Given the description of an element on the screen output the (x, y) to click on. 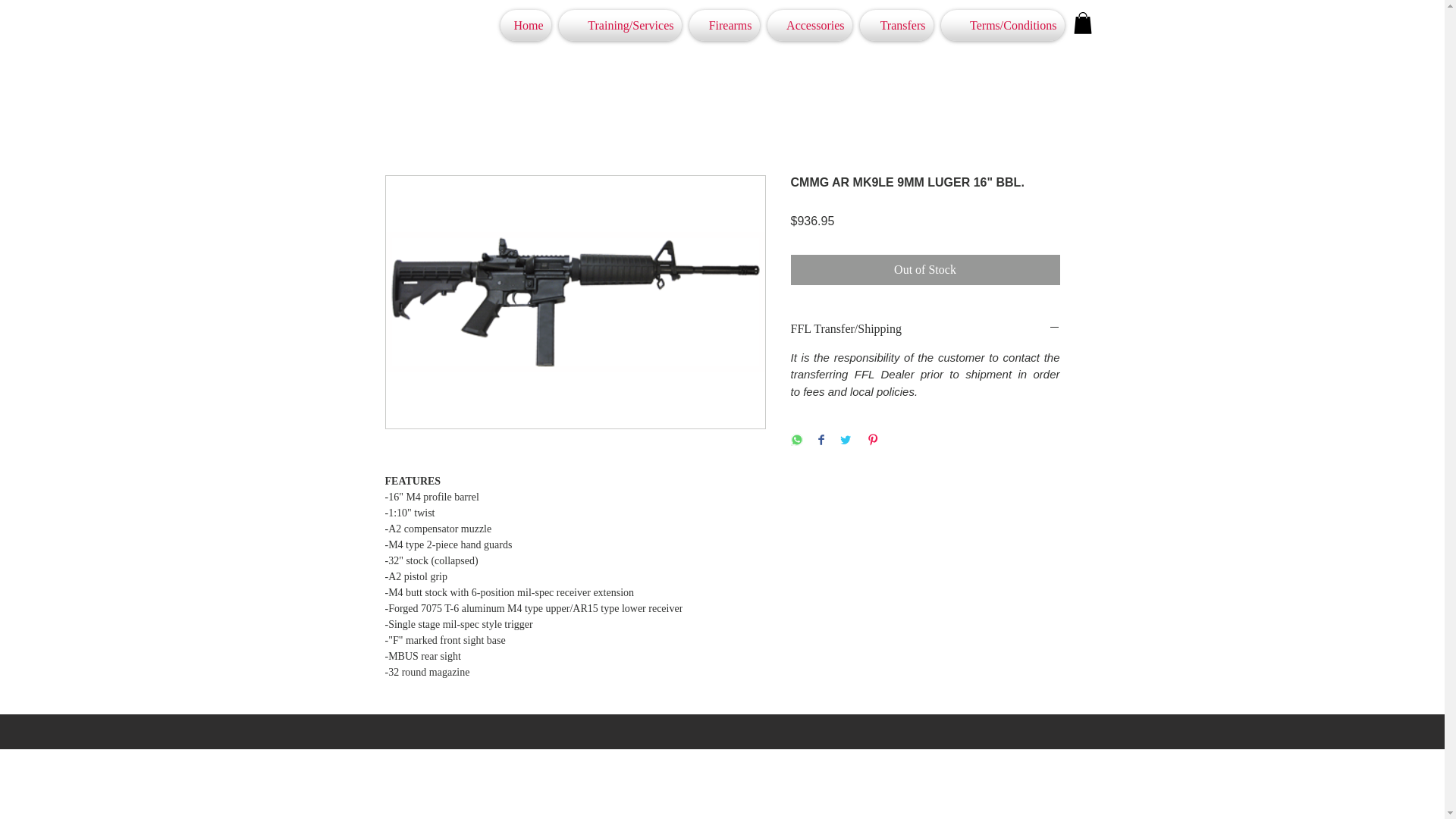
Out of Stock (924, 269)
Home (525, 24)
Transfers (896, 24)
Firearms (723, 24)
Accessories (809, 24)
